Given the description of an element on the screen output the (x, y) to click on. 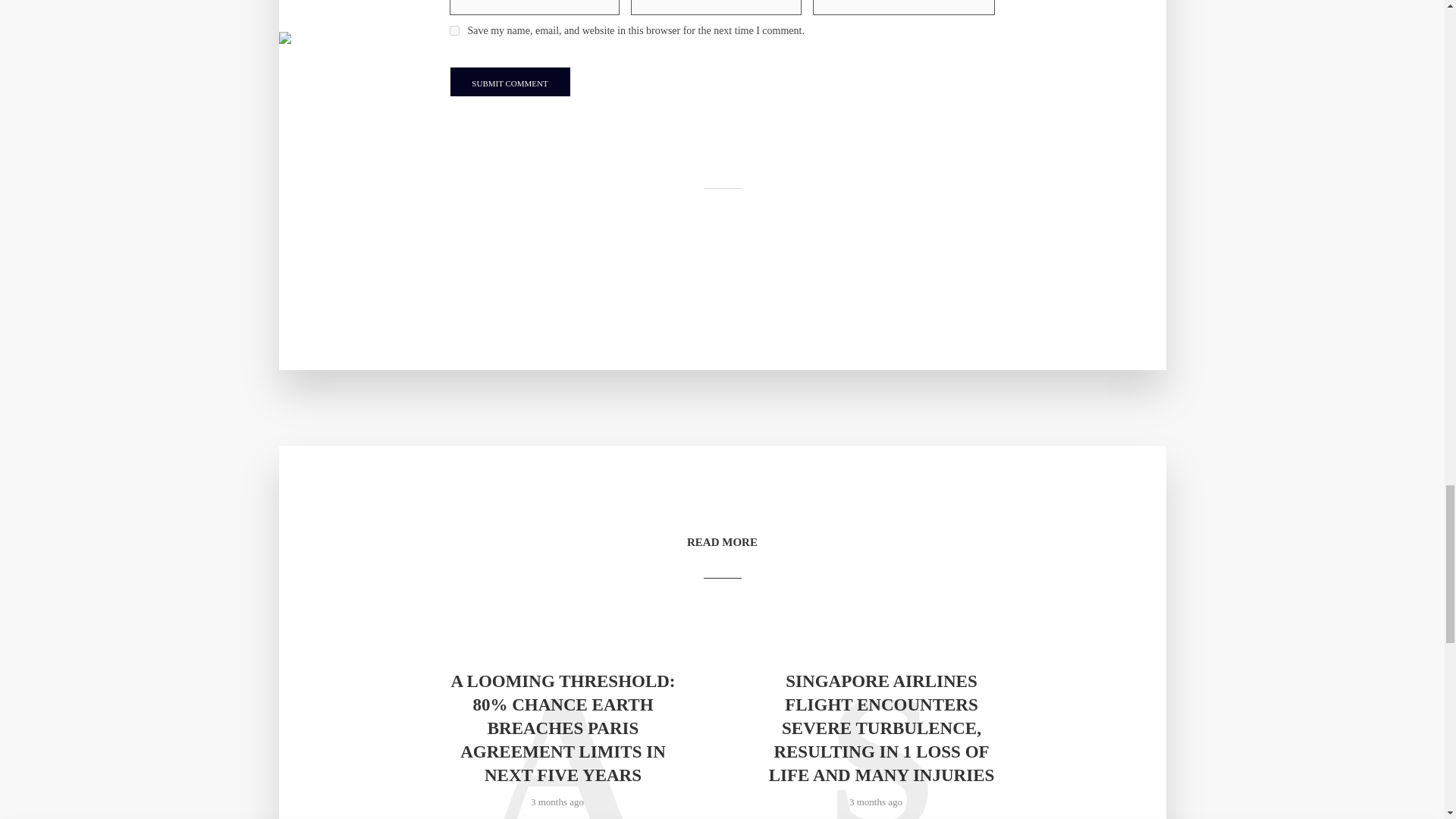
yes (453, 30)
Submit Comment (509, 81)
Submit Comment (509, 81)
